Given the description of an element on the screen output the (x, y) to click on. 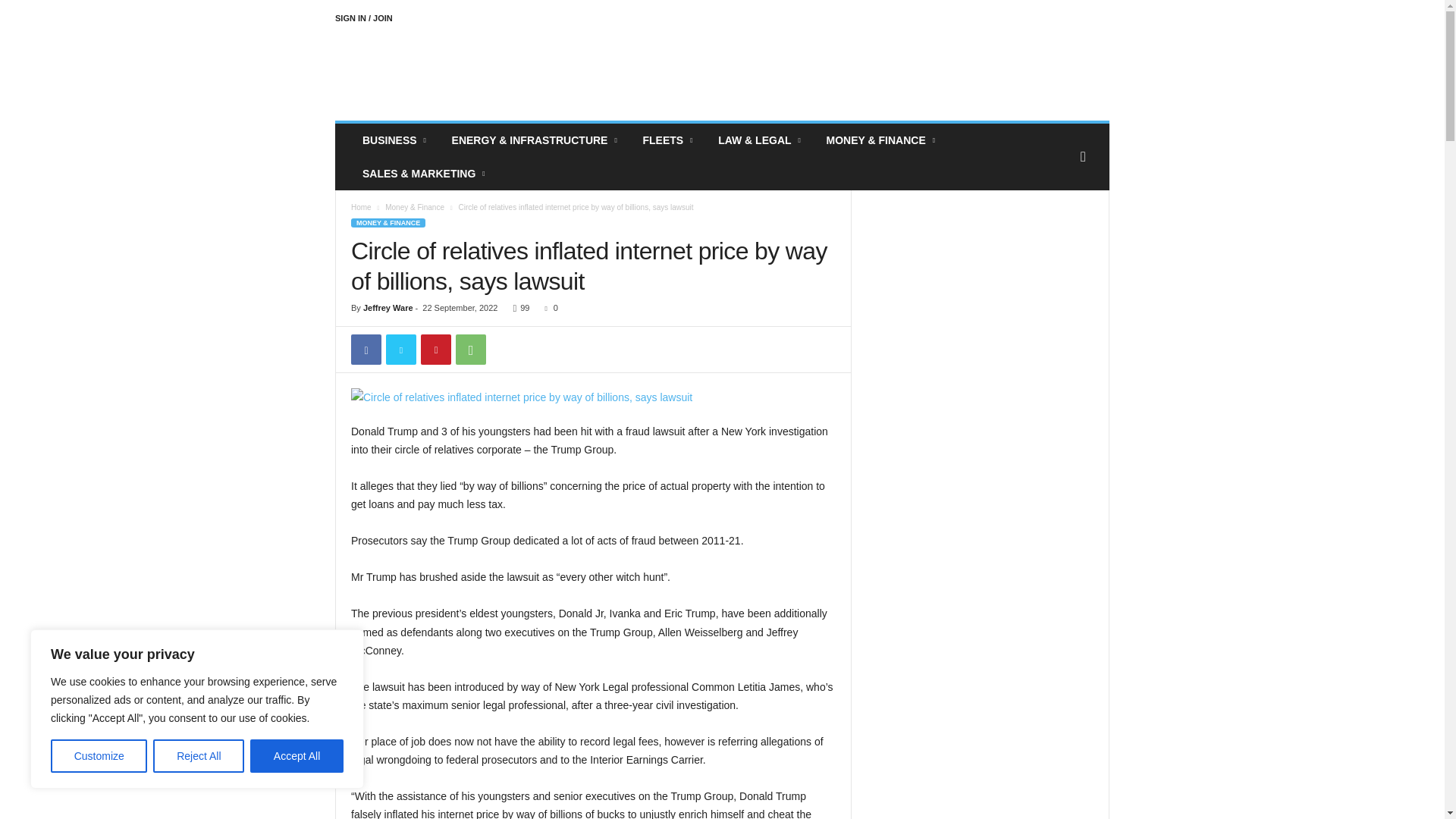
Reject All (198, 756)
BUSINESS (395, 140)
Accept All (296, 756)
Customize (98, 756)
